Given the description of an element on the screen output the (x, y) to click on. 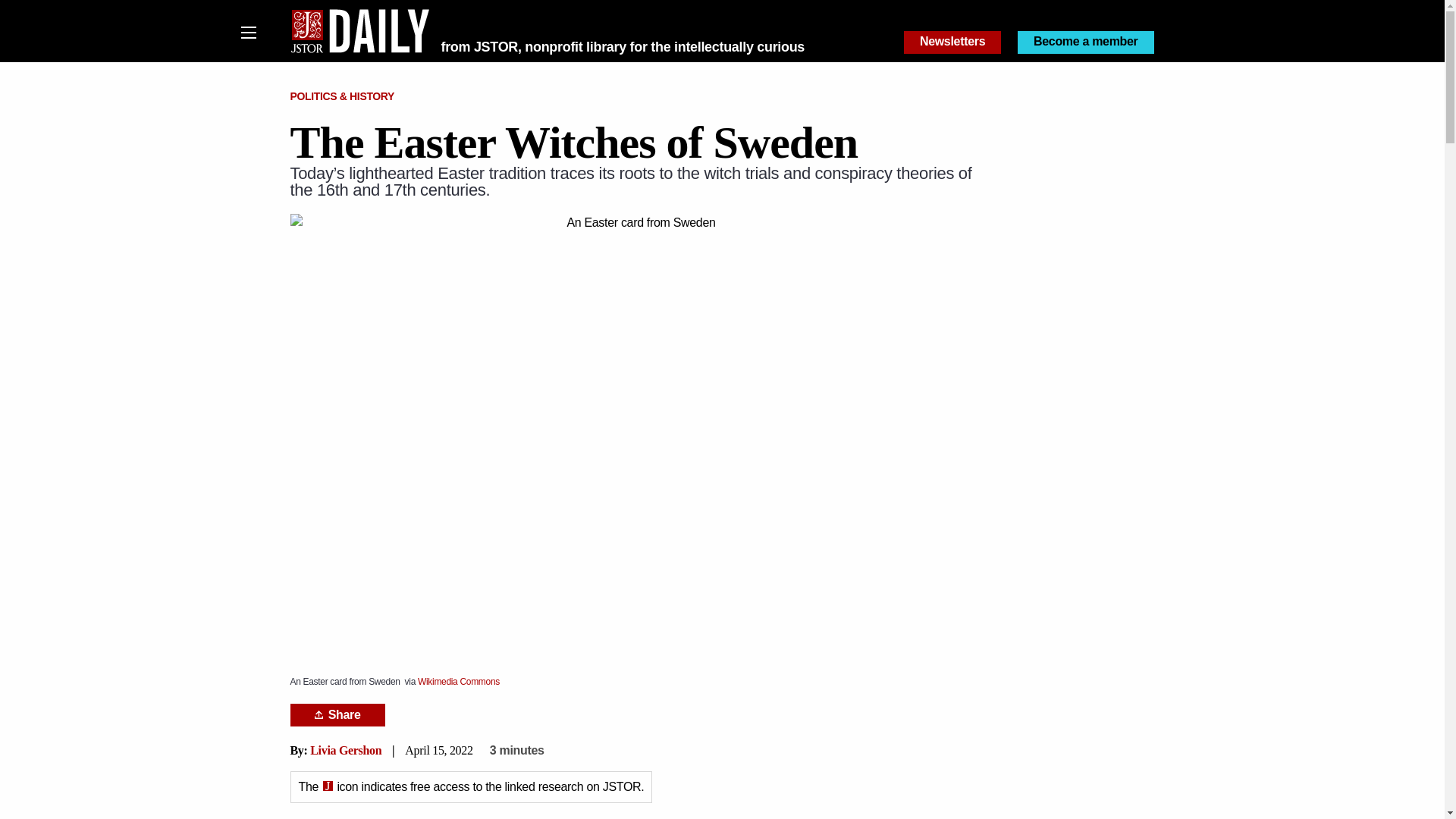
Newsletters (952, 42)
from JSTOR, nonprofit library for the intellectually curious (623, 46)
Become a member (1085, 42)
Wikimedia Commons (458, 681)
